Given the description of an element on the screen output the (x, y) to click on. 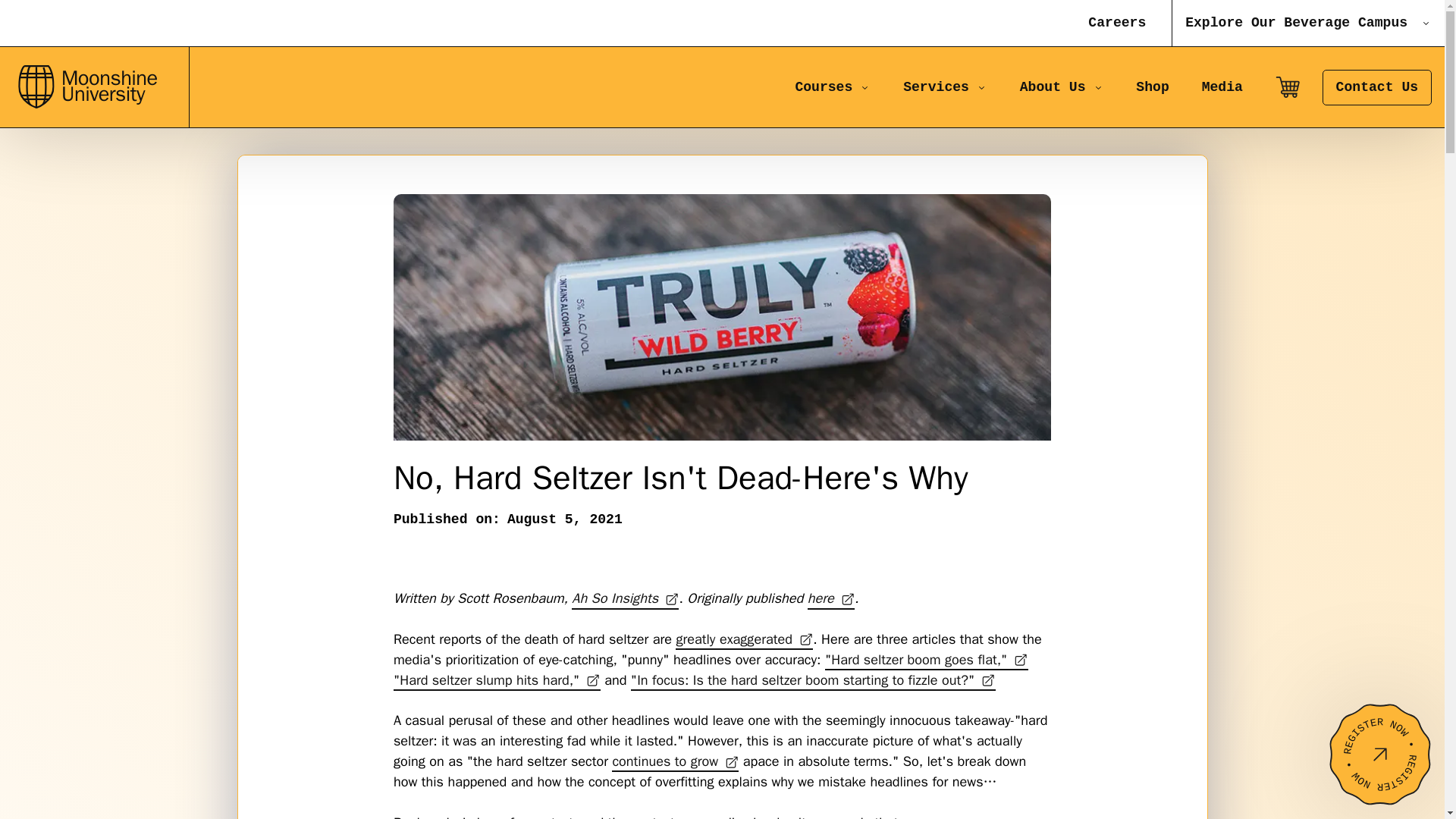
greatly exaggerated (743, 639)
Careers (1116, 22)
Contact Us (1376, 87)
continues to grow (674, 761)
Media (1222, 86)
Services (945, 87)
Shop (1151, 86)
"In focus: Is the hard seltzer boom starting to fizzle out?" (812, 680)
"Hard seltzer boom goes flat," (926, 660)
here (94, 87)
Ah So Insights (831, 598)
About Us (625, 598)
"Hard seltzer slump hits hard," (1061, 87)
Courses (496, 680)
